Given the description of an element on the screen output the (x, y) to click on. 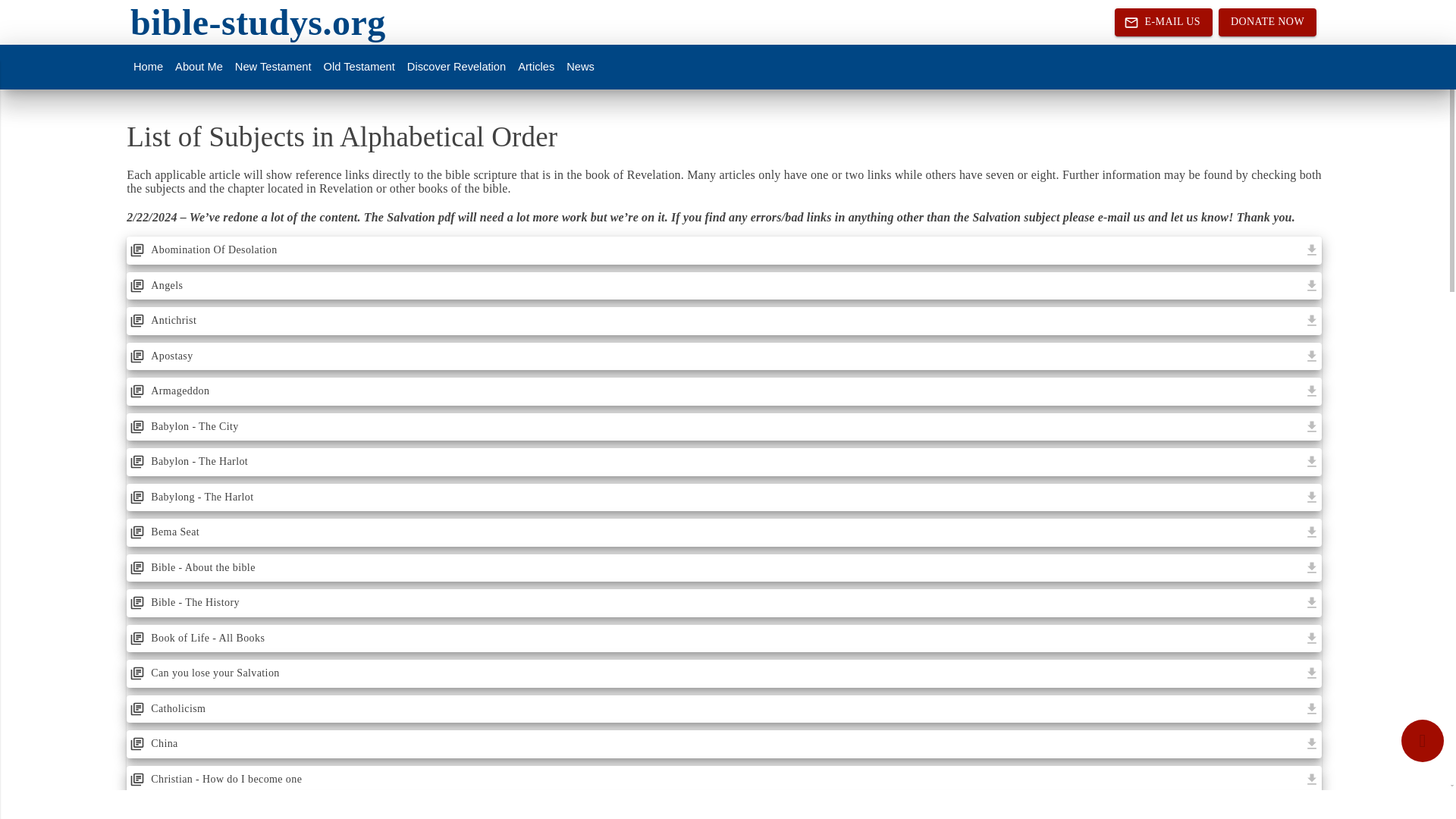
Download (1311, 285)
Download (1311, 532)
Babylong - The Harlot (713, 497)
Download (1311, 461)
Download (1311, 673)
Antichrist (713, 320)
Apostasy (713, 357)
Download (1311, 567)
Old Testament (359, 67)
Abomination Of Desolation (713, 250)
